Given the description of an element on the screen output the (x, y) to click on. 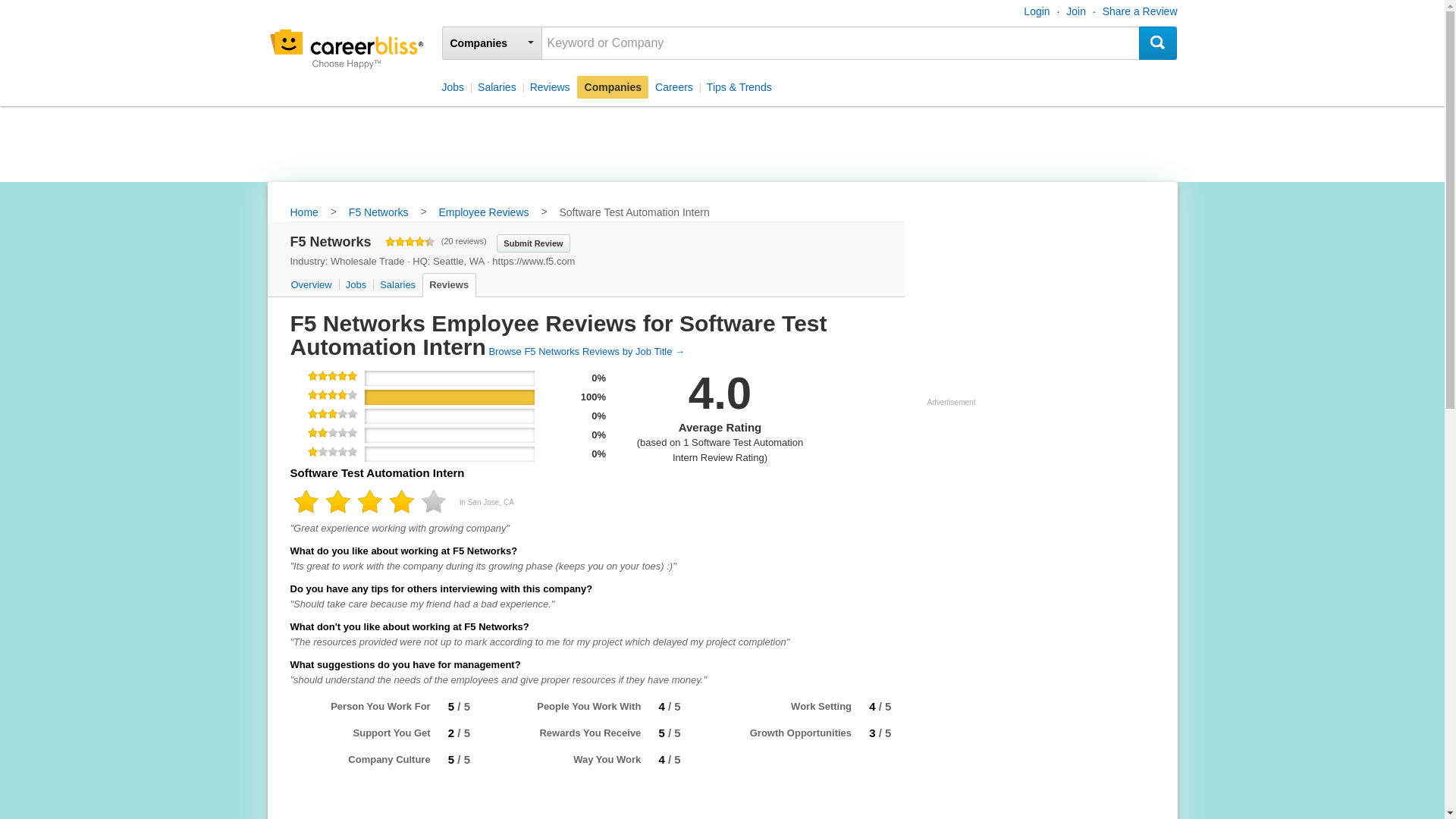
Reviews (549, 87)
Salaries (496, 87)
See all reviews at F5 Networks (585, 351)
Submit Review (532, 242)
Share your company review with the CareerBliss community! (532, 242)
Login (1036, 10)
Login (1036, 10)
Share a Review (1139, 10)
Jobs (455, 87)
Join (1075, 10)
